Given the description of an element on the screen output the (x, y) to click on. 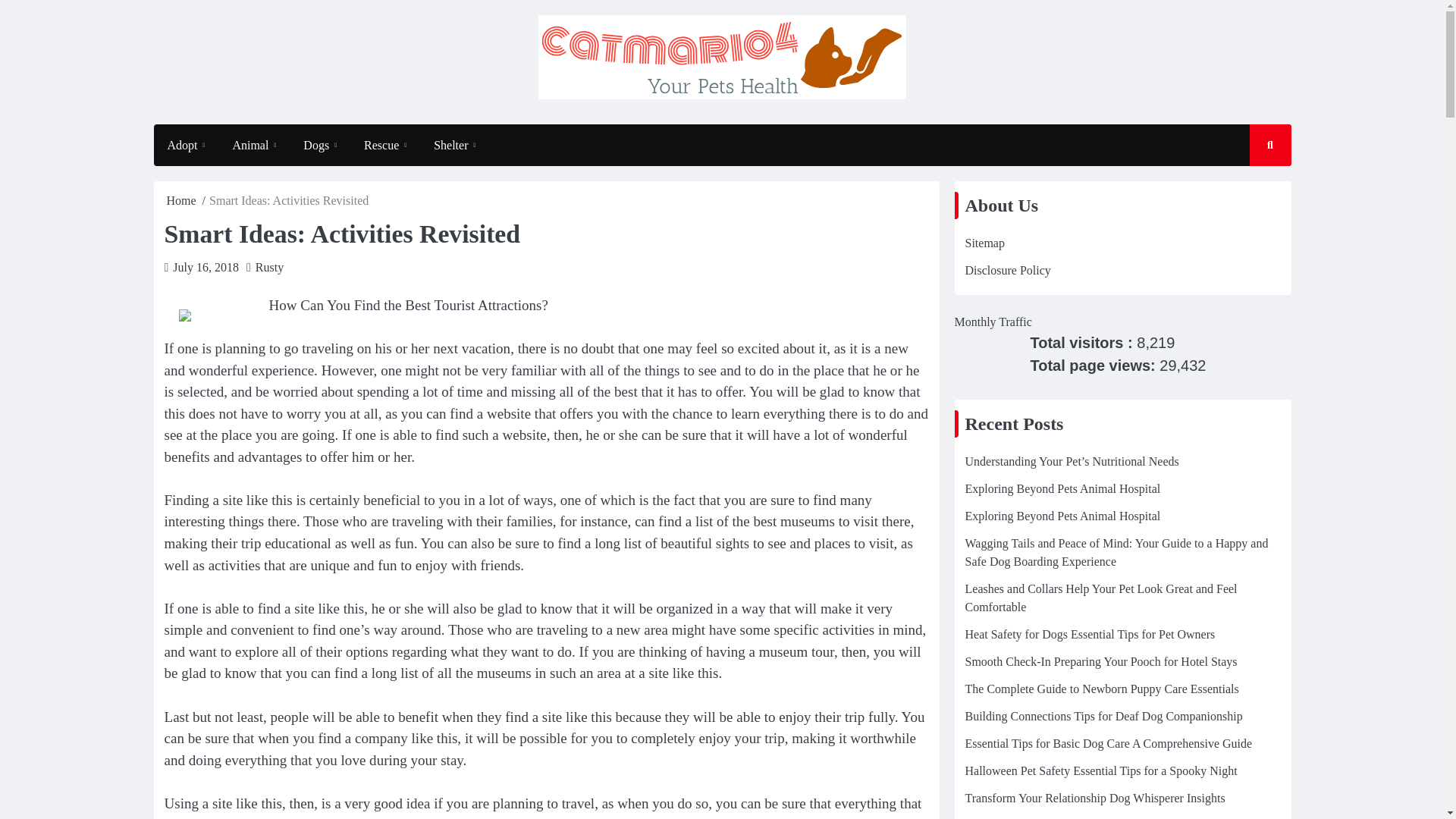
July 16, 2018 (205, 267)
Search (1256, 189)
Home (181, 200)
Shelter (454, 144)
Rescue (385, 144)
Rusty (269, 267)
Adopt (185, 144)
Dogs (319, 144)
Animal (253, 144)
